Given the description of an element on the screen output the (x, y) to click on. 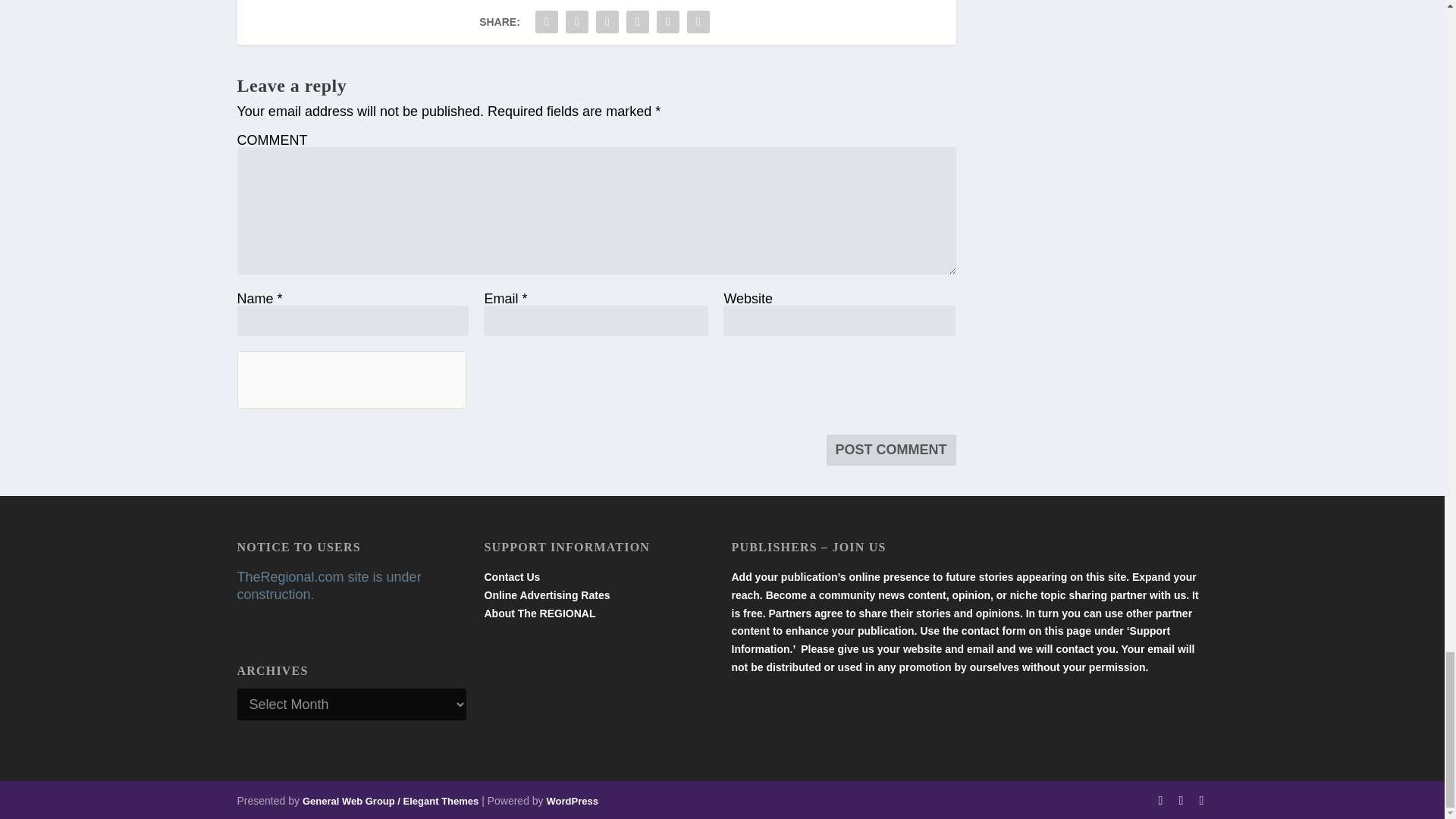
Premium WordPress Themes (390, 800)
Post Comment (891, 450)
